Given the description of an element on the screen output the (x, y) to click on. 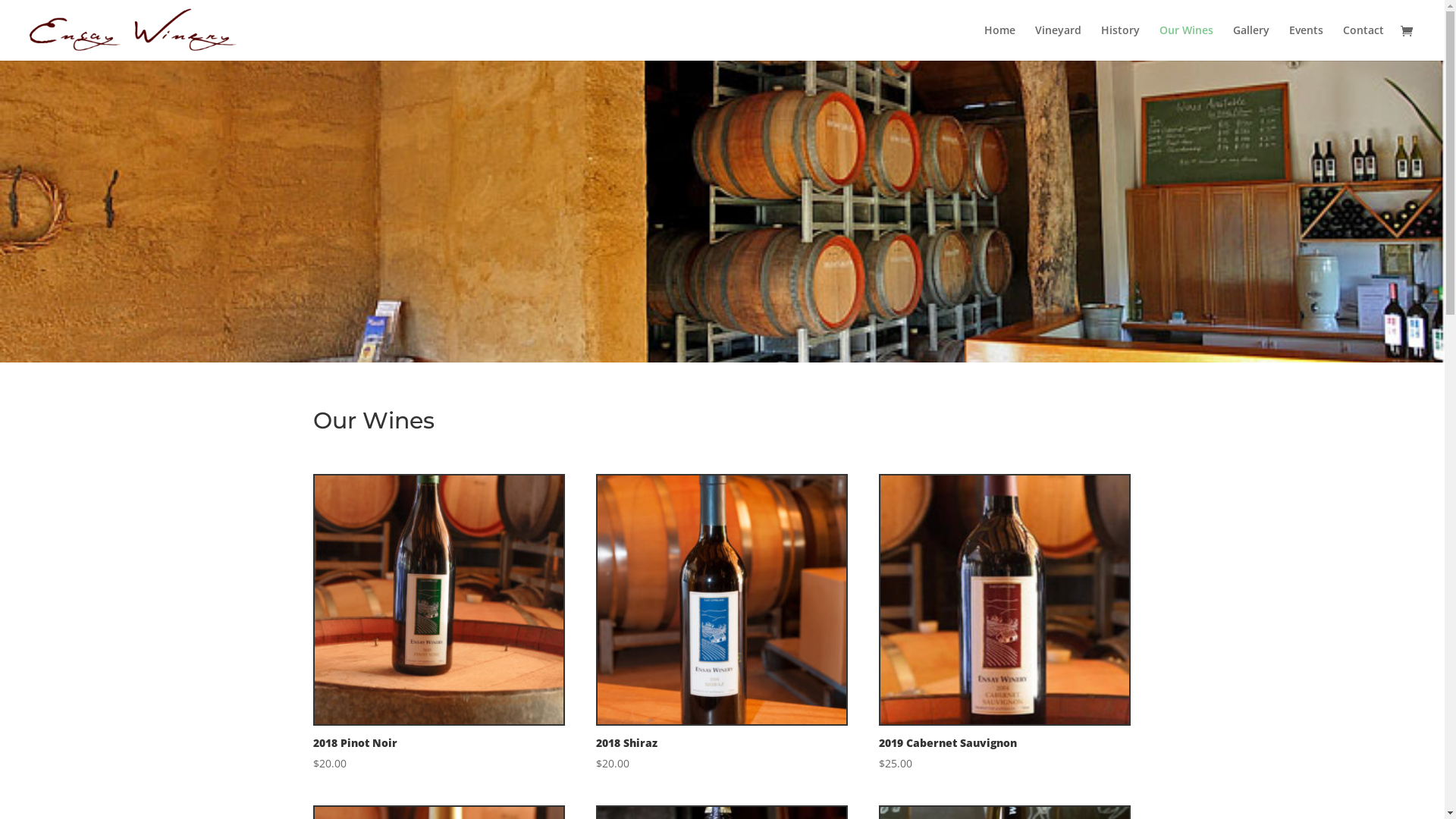
Gallery Element type: text (1251, 42)
Vineyard Element type: text (1058, 42)
2019 Cabernet Sauvignon
$25.00 Element type: text (1004, 623)
Our Wines Element type: text (1186, 42)
2018 Shiraz
$20.00 Element type: text (721, 623)
History Element type: text (1120, 42)
Home Element type: text (999, 42)
2018 Pinot Noir
$20.00 Element type: text (438, 623)
Contact Element type: text (1363, 42)
Events Element type: text (1306, 42)
